Given the description of an element on the screen output the (x, y) to click on. 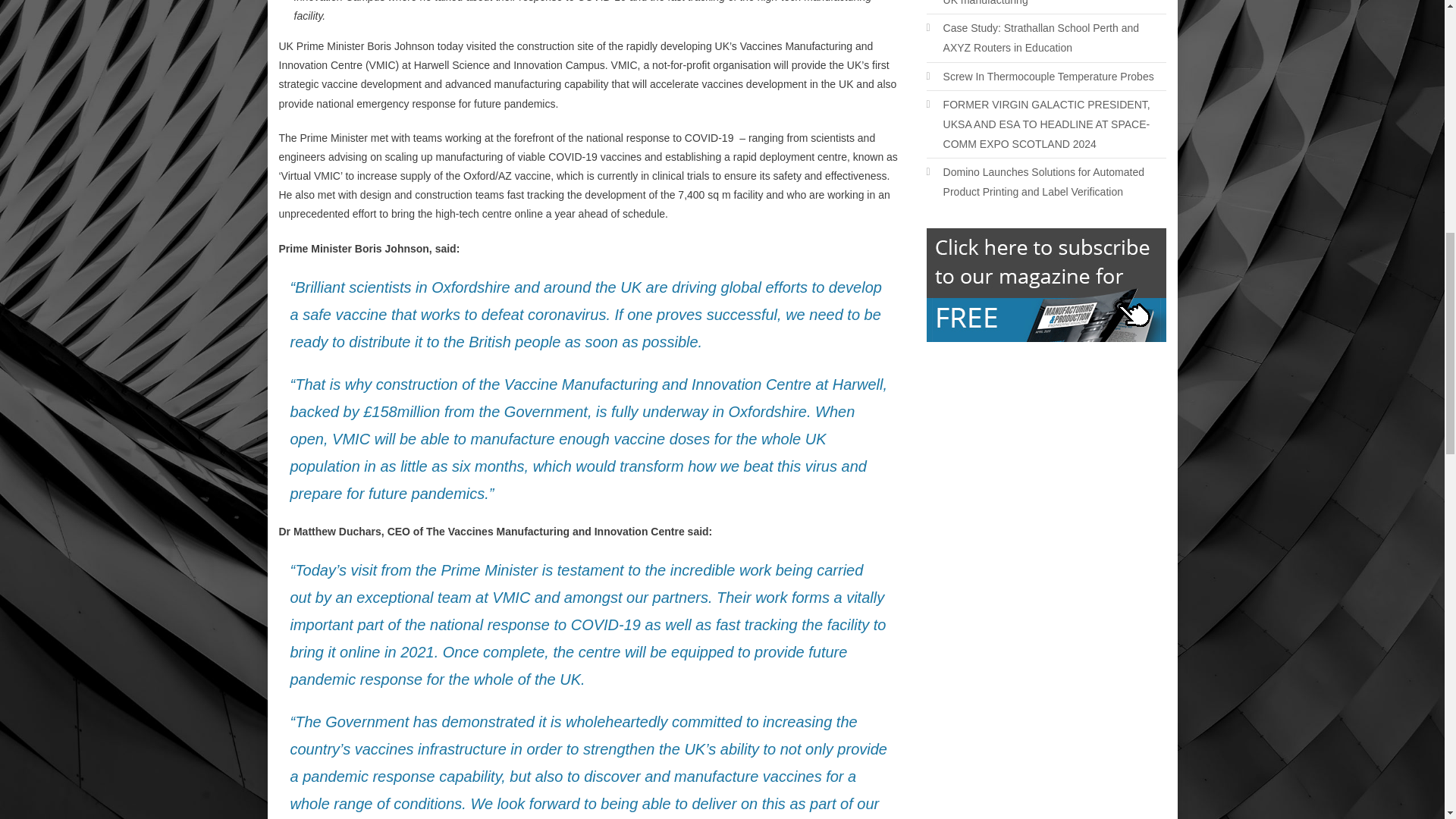
Screw In Thermocouple Temperature Probes (1040, 76)
